Given the description of an element on the screen output the (x, y) to click on. 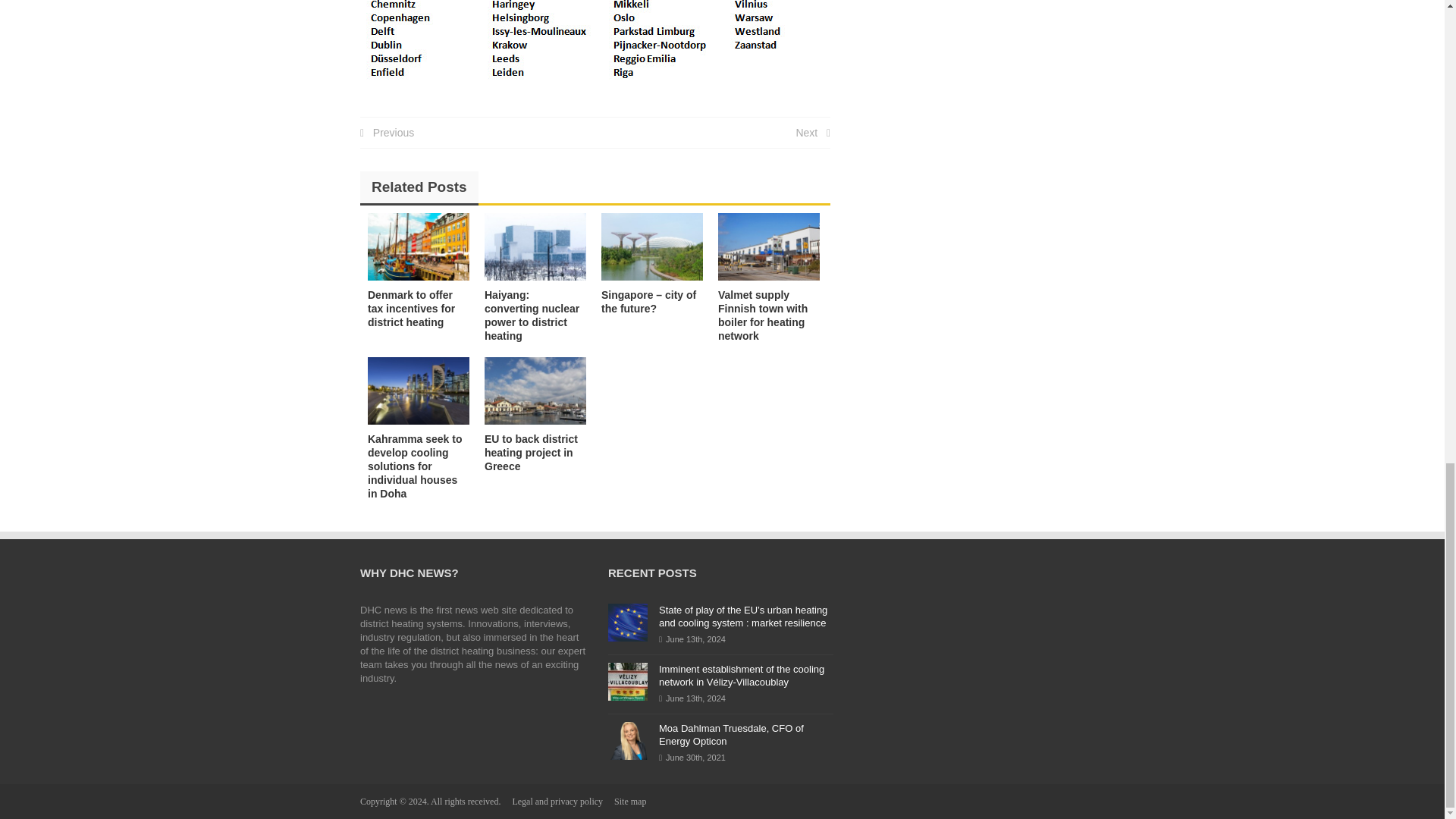
Next   (811, 132)
Denmark to offer tax incentives for district heating (418, 246)
EU to back district heating project in Greece (531, 452)
Valmet supply Finnish town with boiler for heating network (762, 315)
Haiyang: converting nuclear power to district heating (531, 315)
Valmet supply Finnish town with boiler for heating network (768, 246)
  Previous (386, 132)
EU to back district heating project in Greece (531, 452)
Haiyang: converting nuclear power to district heating (531, 315)
Haiyang: converting nuclear power to district heating (535, 246)
Denmark to offer tax incentives for district heating (411, 308)
Valmet supply Finnish town with boiler for heating network (762, 315)
